Given the description of an element on the screen output the (x, y) to click on. 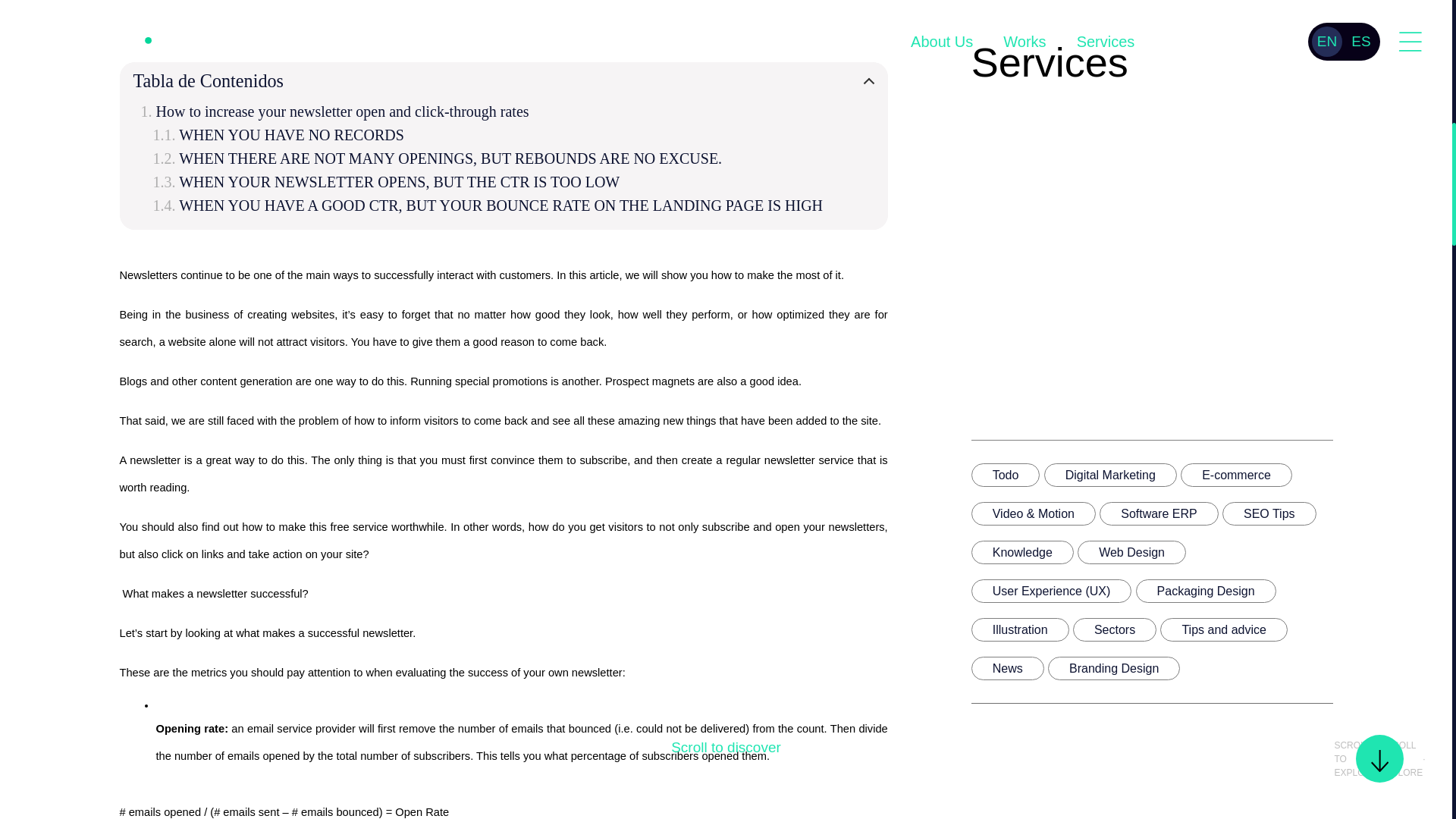
blog (1006, 474)
Knowledge (1022, 552)
E-commerce (1236, 474)
Packaging Design (1205, 590)
WHEN YOU HAVE NO RECORDS (278, 135)
Digital Marketing (1109, 474)
E-commerce (1236, 474)
Tips and advice (1223, 629)
Web (1152, 247)
